Given the description of an element on the screen output the (x, y) to click on. 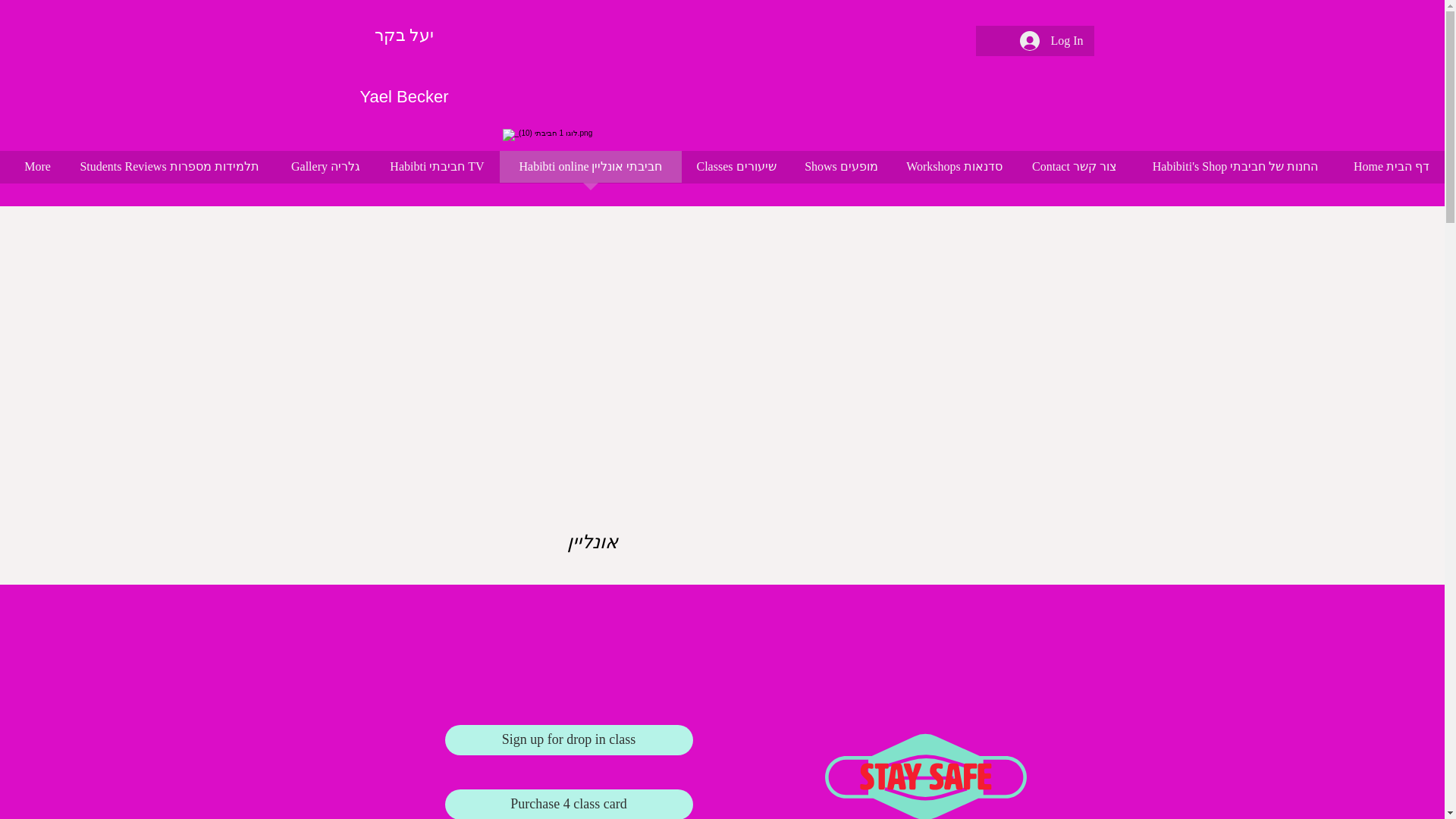
Log In (1051, 40)
Yael Becker (403, 96)
Purchase 4 class card (568, 804)
Sign up for drop in class (568, 739)
